Given the description of an element on the screen output the (x, y) to click on. 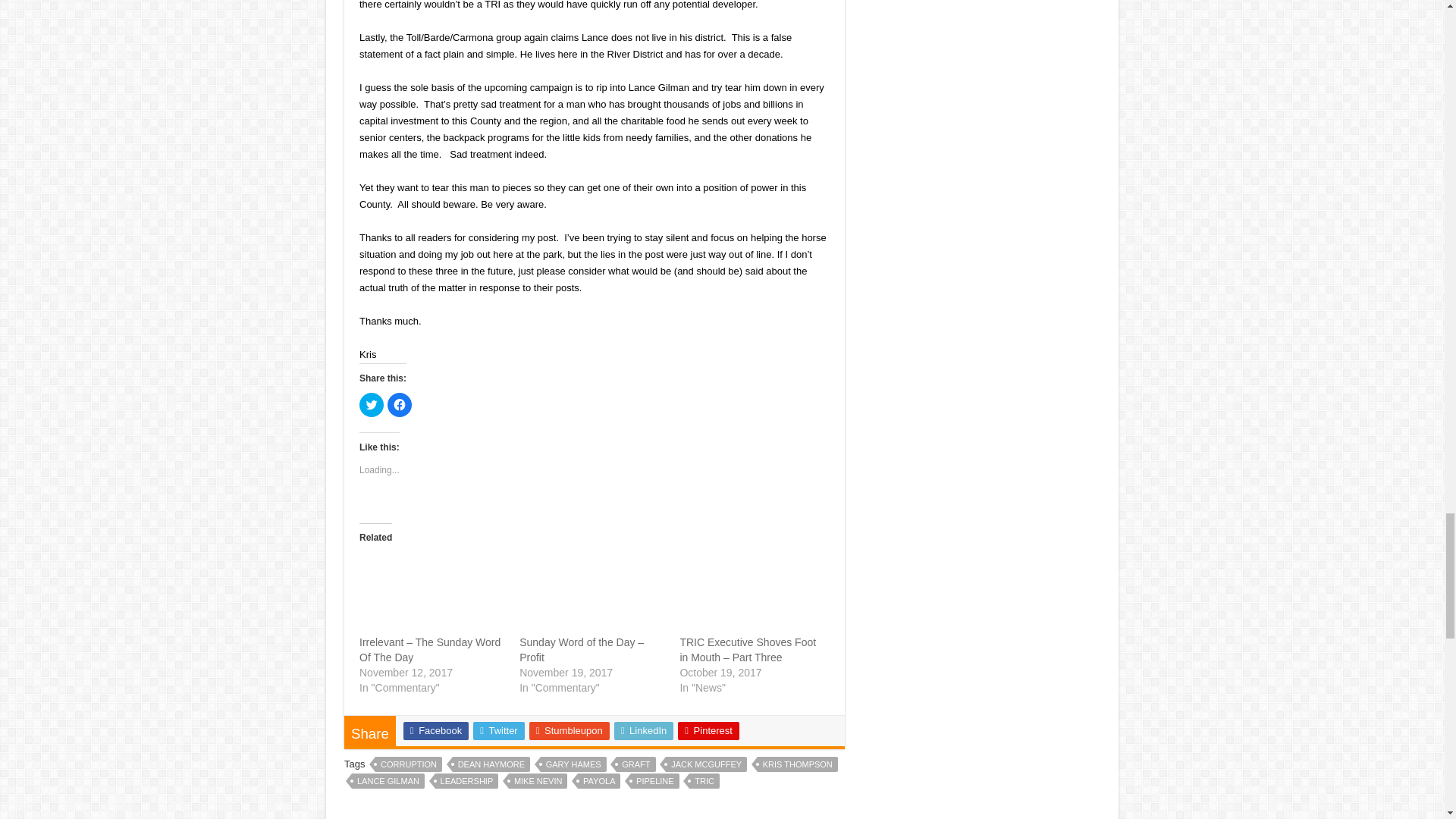
Click to share on Twitter (371, 404)
Click to share on Facebook (399, 404)
